Given the description of an element on the screen output the (x, y) to click on. 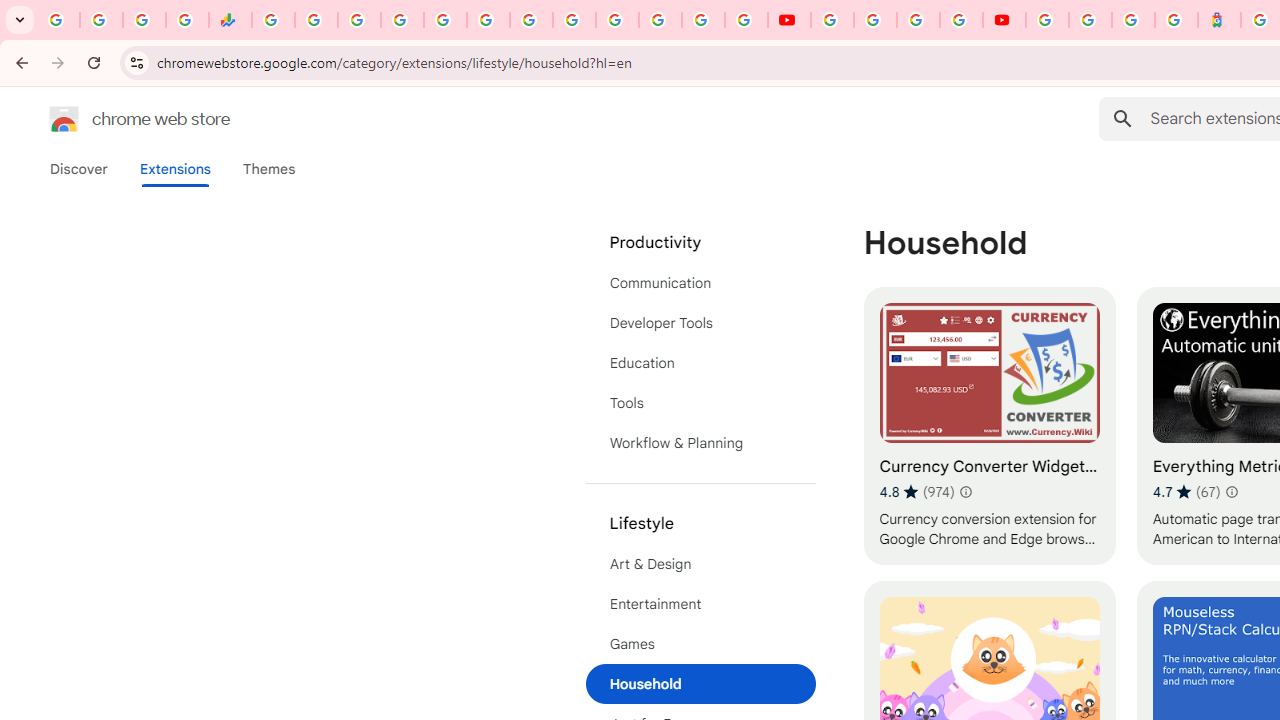
YouTube (574, 20)
Sign in - Google Accounts (402, 20)
